Given the description of an element on the screen output the (x, y) to click on. 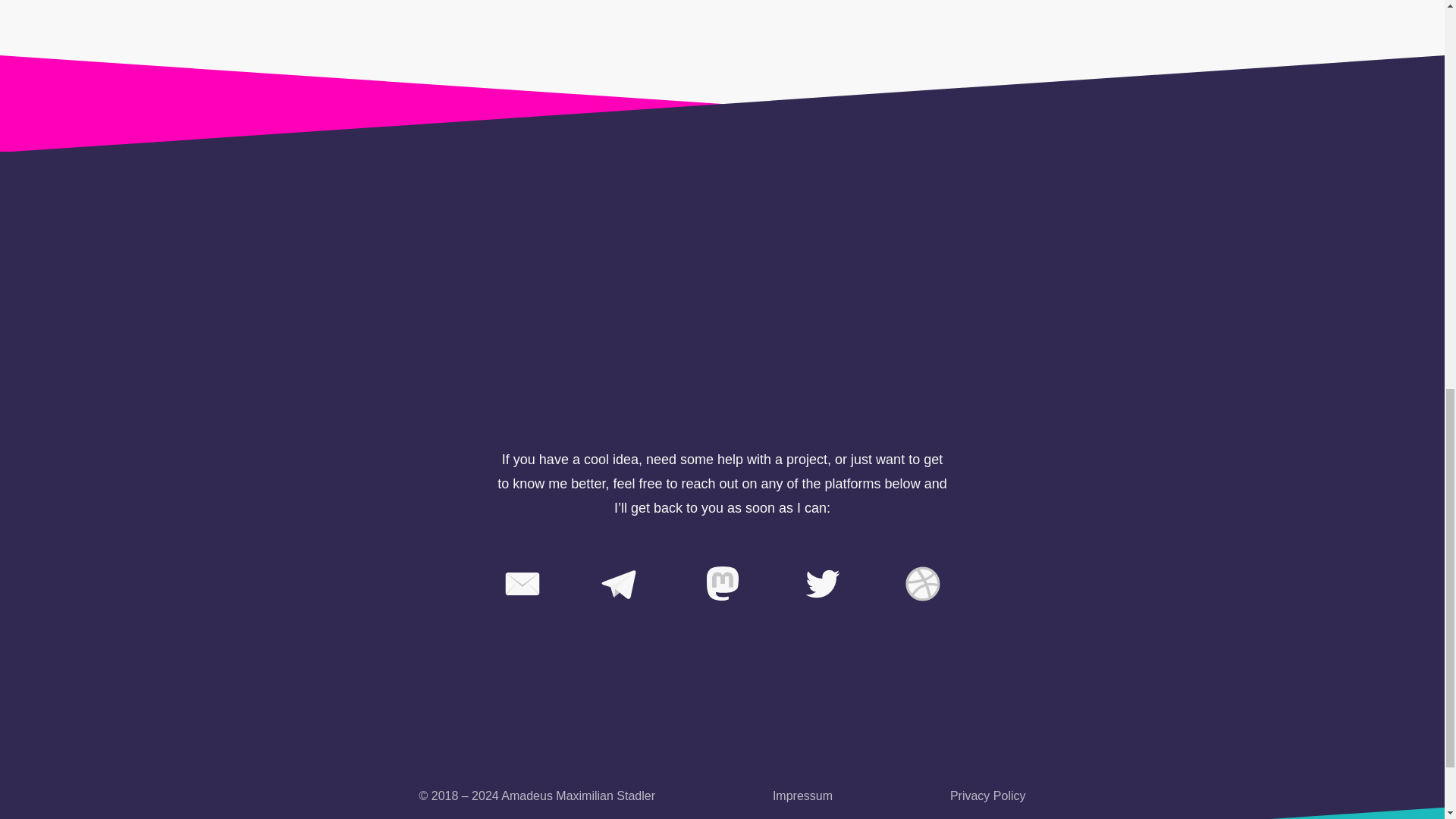
Privacy Policy (988, 795)
Impressum (802, 795)
